Given the description of an element on the screen output the (x, y) to click on. 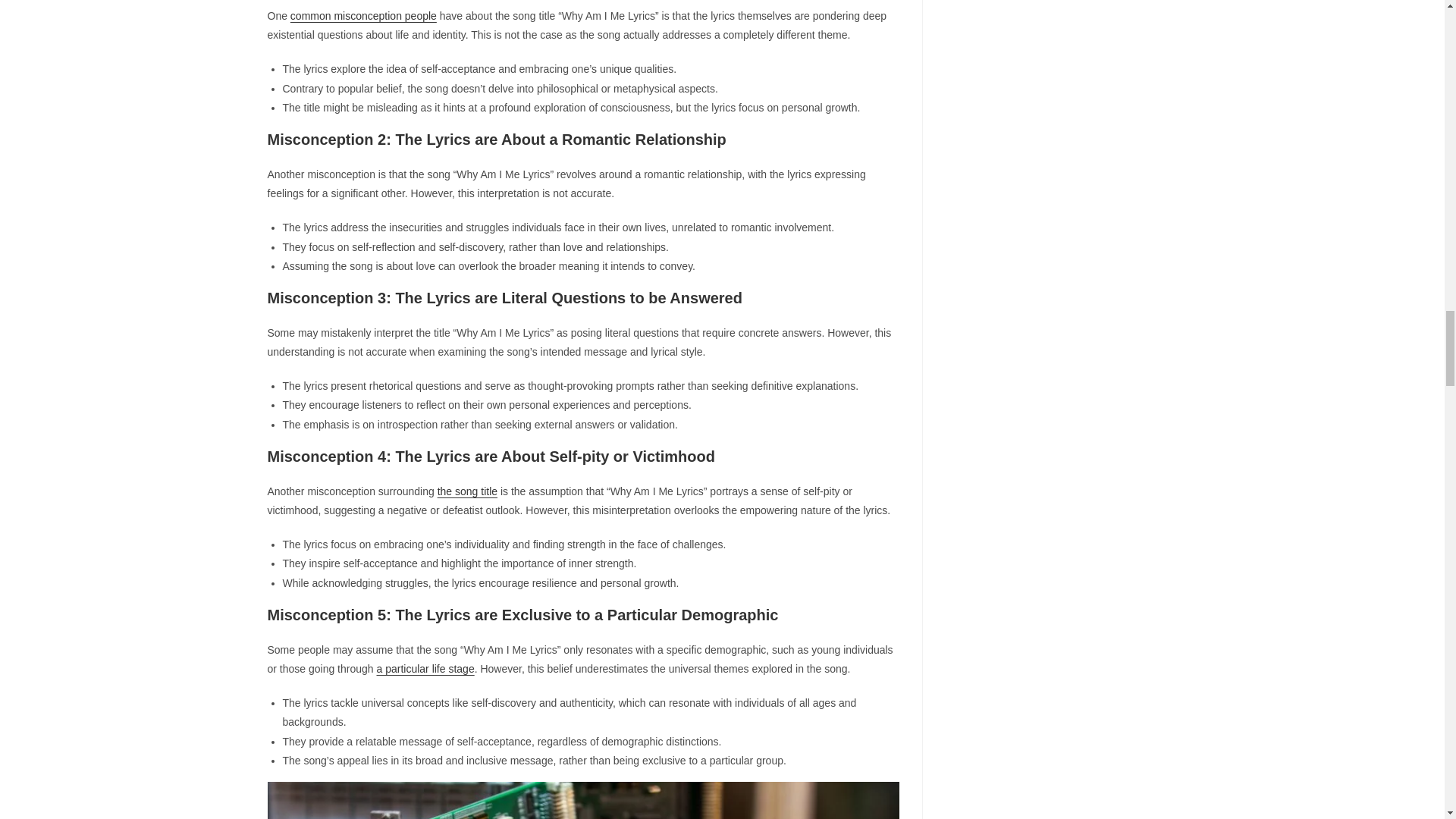
the song title (467, 491)
common misconception people (362, 15)
Why Am I Me Lyrics (582, 800)
a particular life stage (424, 668)
